Given the description of an element on the screen output the (x, y) to click on. 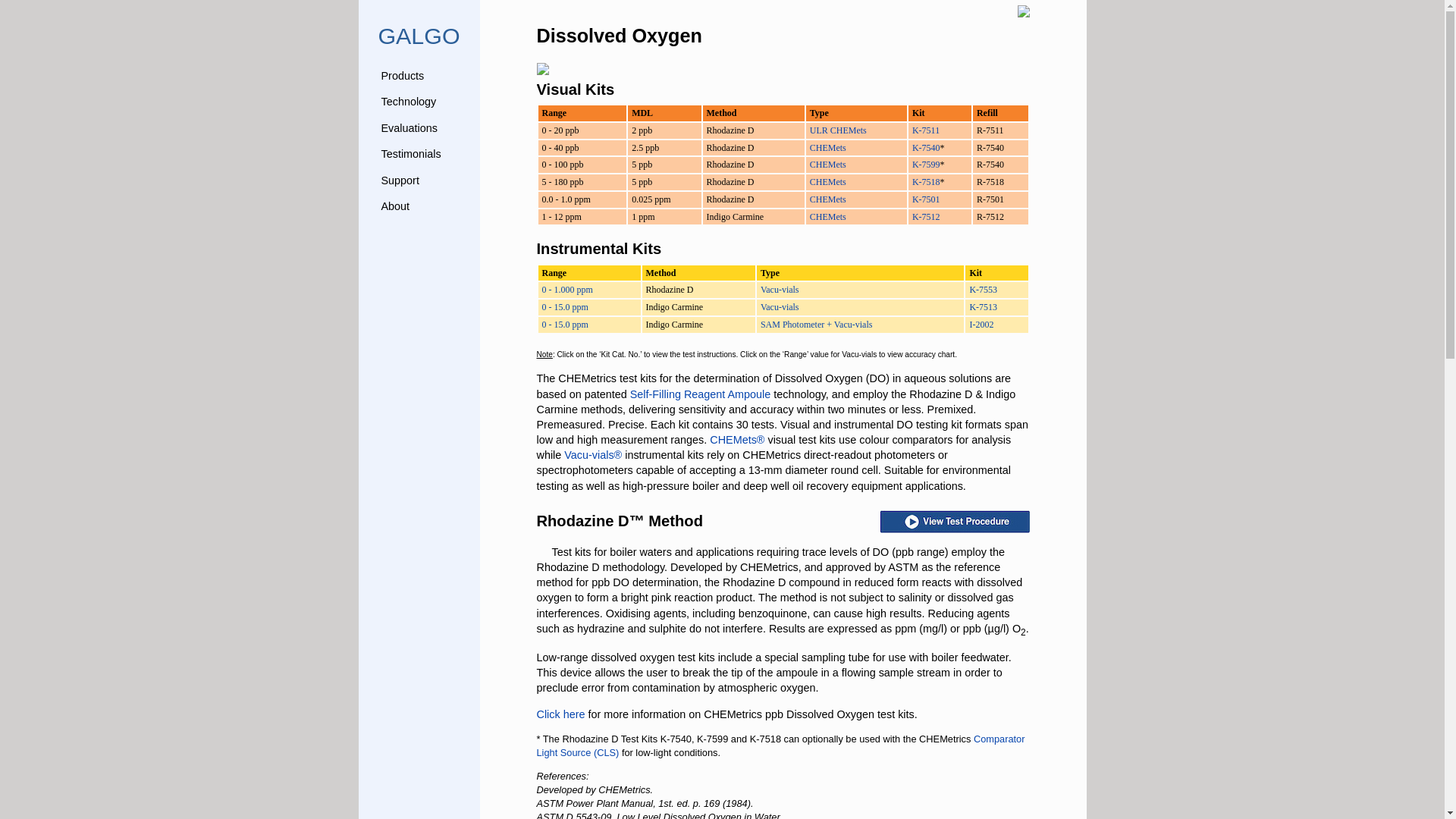
0 - 15.0 ppm (564, 307)
0 - 15.0 ppm (564, 324)
Evaluations (408, 128)
Visual Kits (575, 89)
Technology (407, 101)
Instrumental Kits (599, 248)
Testimonials (410, 153)
0 - 1.000 ppm (566, 289)
Products (401, 75)
About (394, 205)
Support (399, 180)
GALGO (418, 39)
Click here (561, 714)
